Given the description of an element on the screen output the (x, y) to click on. 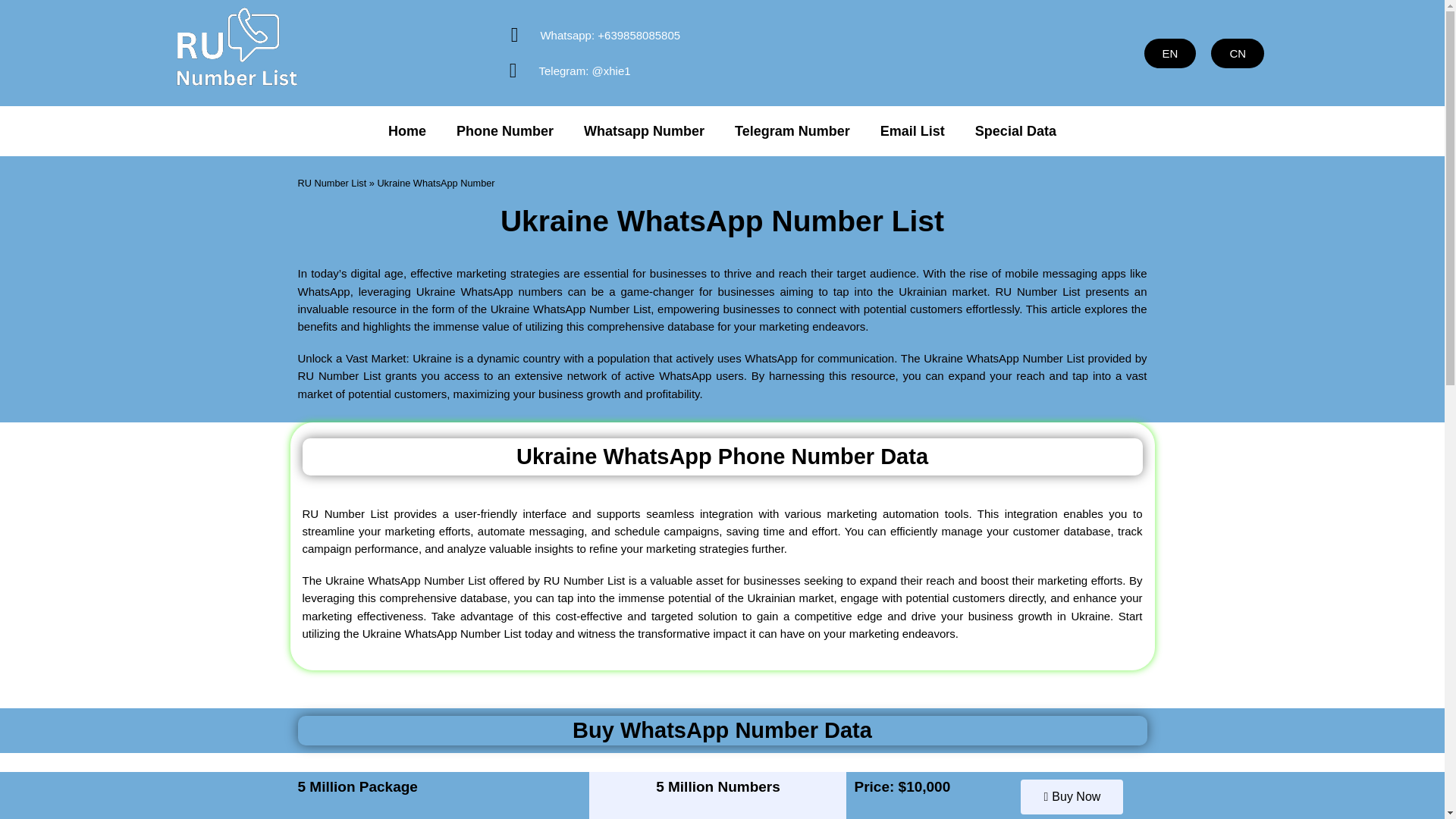
CN (1237, 52)
RU Number List (331, 183)
Whatsapp Number (644, 130)
Home (406, 130)
Email List (911, 130)
Special Data (1015, 130)
EN (1170, 52)
Buy Now (1071, 796)
Telegram Number (791, 130)
Phone Number (505, 130)
